Given the description of an element on the screen output the (x, y) to click on. 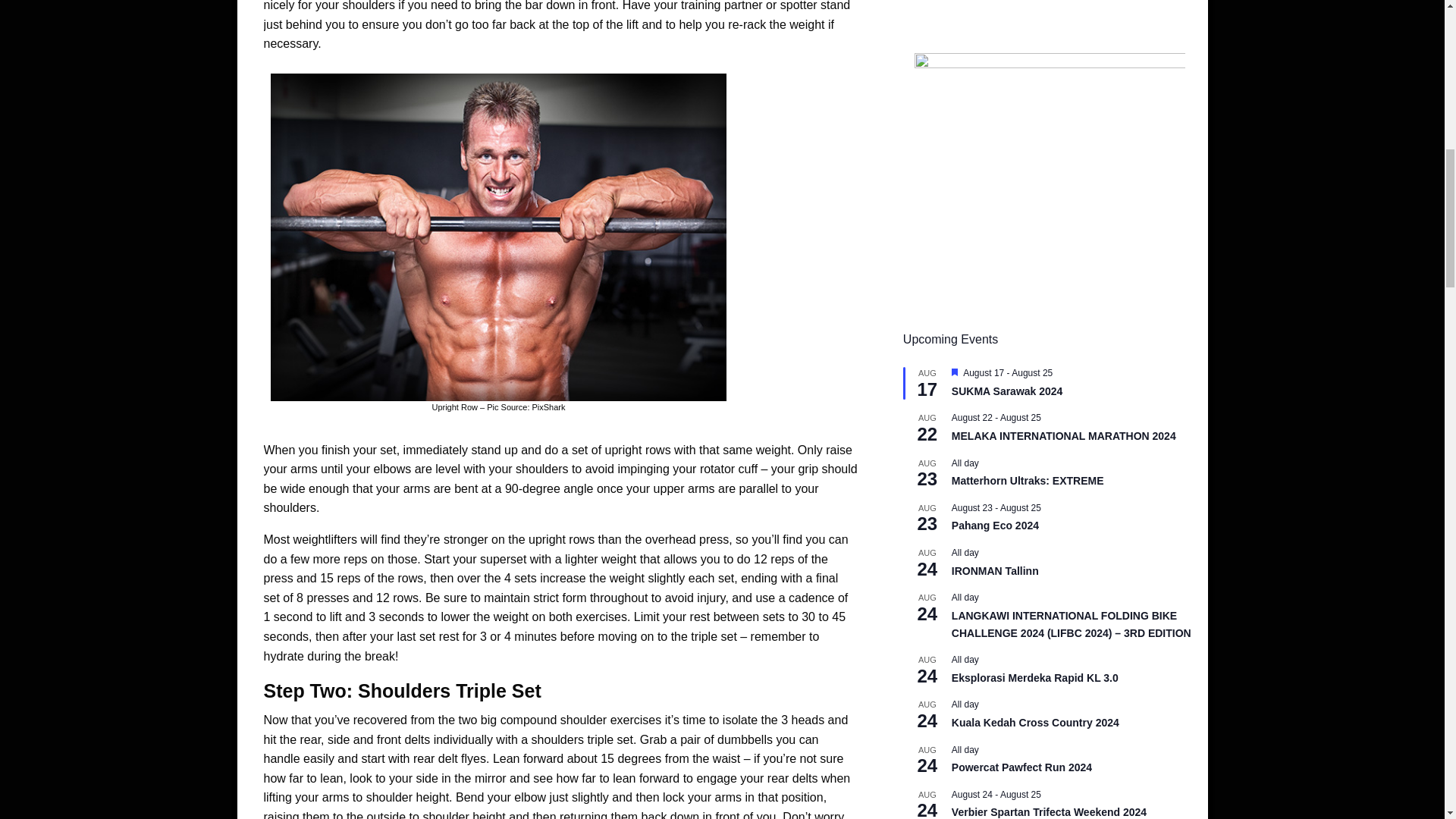
SUKMA Sarawak 2024 (1007, 391)
Pahang Eco 2024 (995, 525)
MELAKA INTERNATIONAL MARATHON 2024 (1064, 436)
Matterhorn Ultraks: EXTREME (1027, 481)
